Given the description of an element on the screen output the (x, y) to click on. 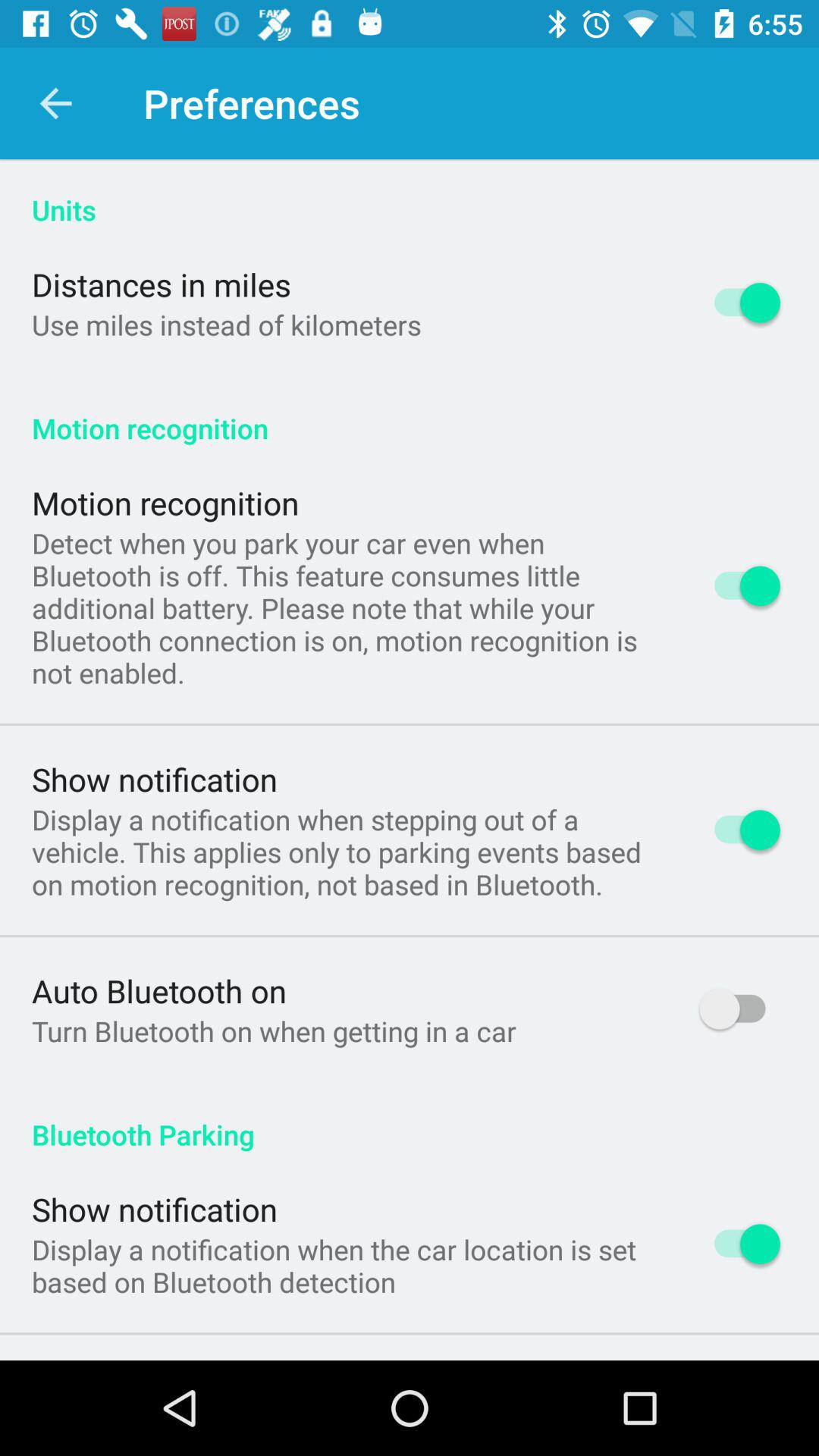
turn off icon above the distances in miles app (409, 193)
